Given the description of an element on the screen output the (x, y) to click on. 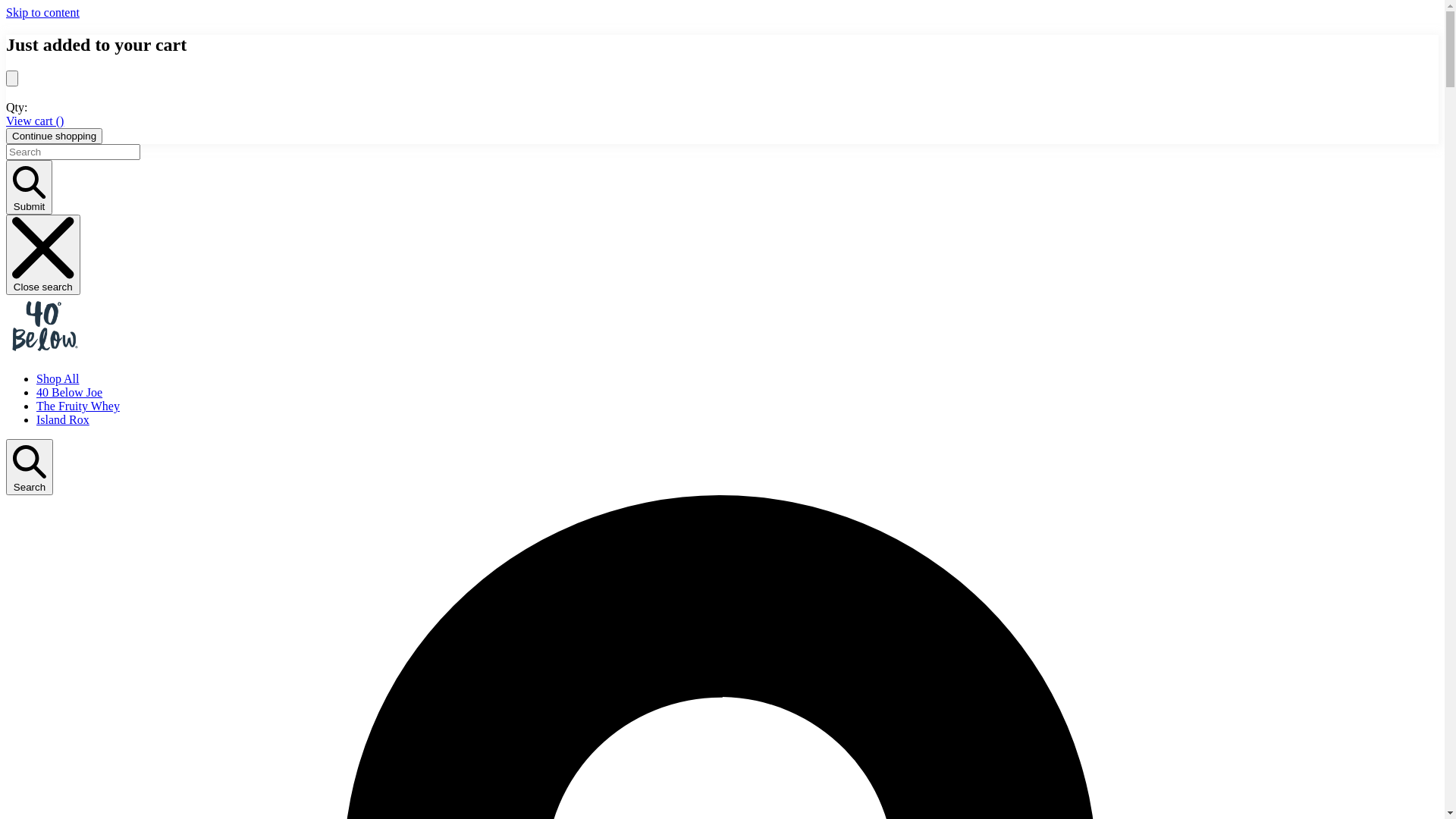
Close search Element type: text (43, 254)
Submit Element type: text (29, 187)
Shop All Element type: text (57, 378)
View cart () Element type: text (34, 120)
Continue shopping Element type: text (54, 136)
The Fruity Whey Element type: text (77, 405)
Island Rox Element type: text (62, 419)
Skip to content Element type: text (42, 12)
Search Element type: text (29, 467)
40 Below Joe Element type: text (69, 391)
